Given the description of an element on the screen output the (x, y) to click on. 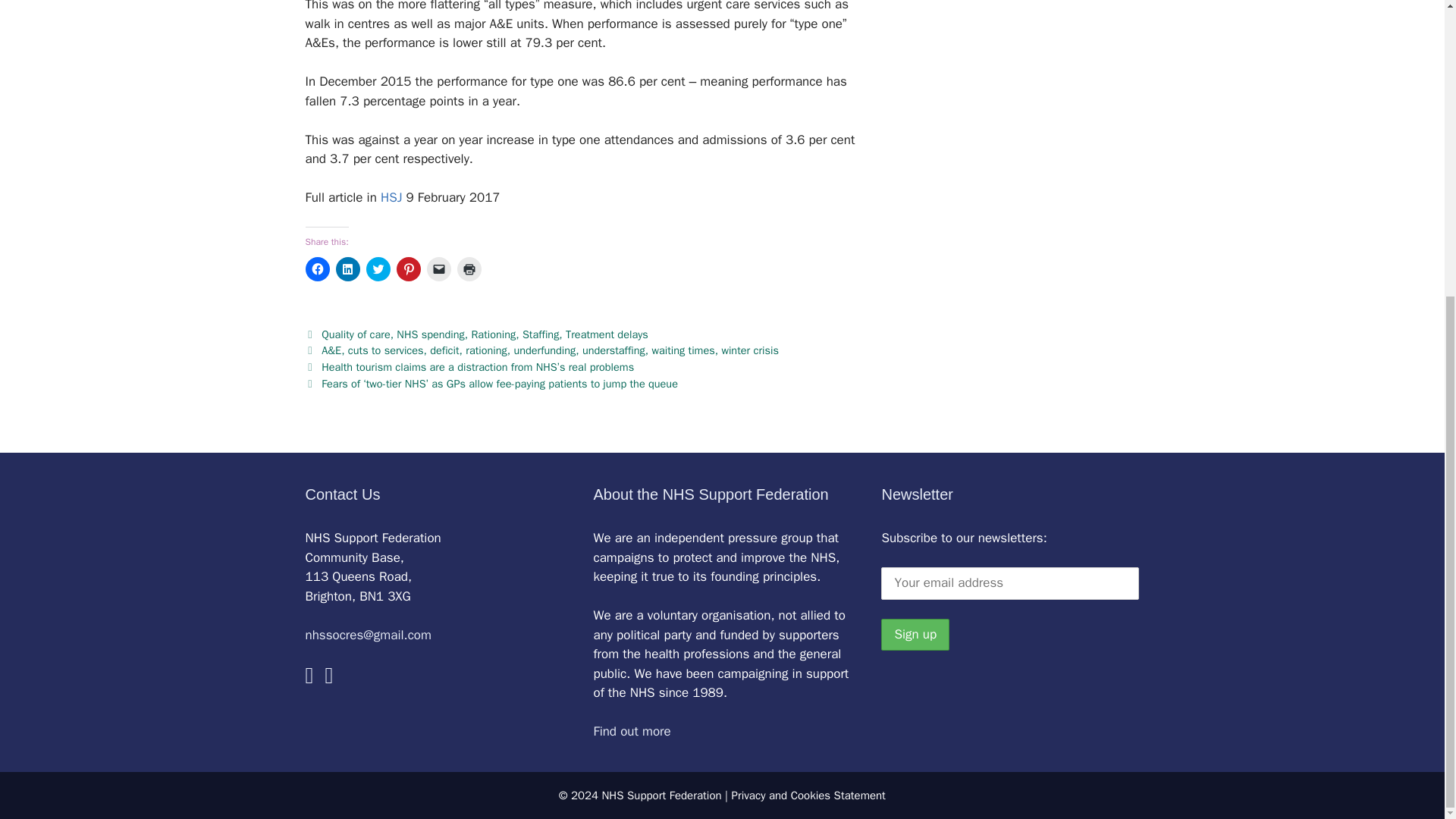
Sign up (914, 634)
Click to print (468, 269)
Click to share on Pinterest (408, 269)
Click to share on Facebook (316, 269)
Click to email a link to a friend (437, 269)
Click to share on LinkedIn (346, 269)
Click to share on Twitter (377, 269)
